Given the description of an element on the screen output the (x, y) to click on. 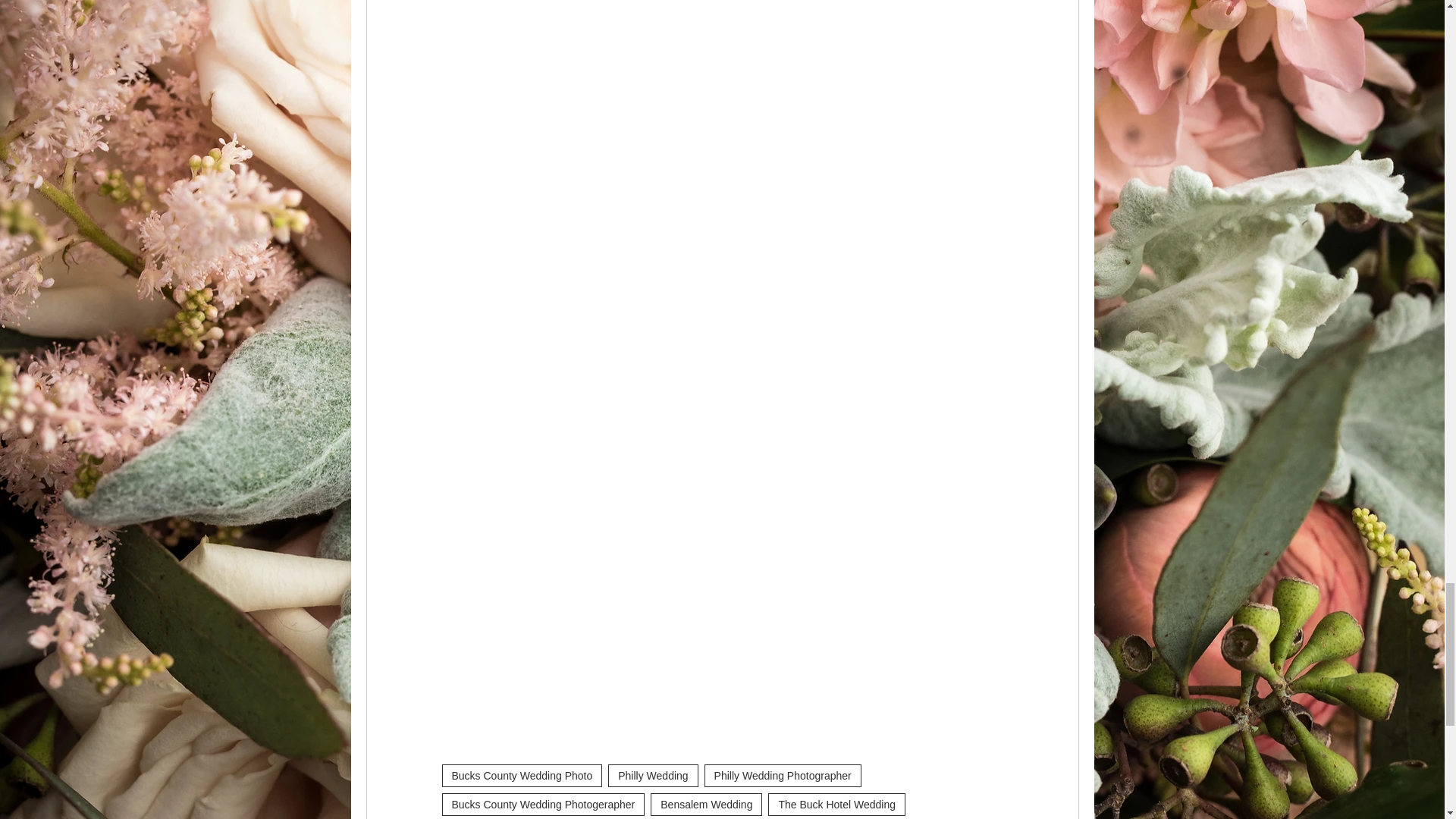
Philly Wedding (652, 775)
Bucks County Wedding Photo (521, 775)
Bucks County Wedding Photogerapher (543, 804)
The Buck Hotel Wedding (836, 804)
Bensalem Wedding (705, 804)
Philly Wedding Photographer (782, 775)
